Given the description of an element on the screen output the (x, y) to click on. 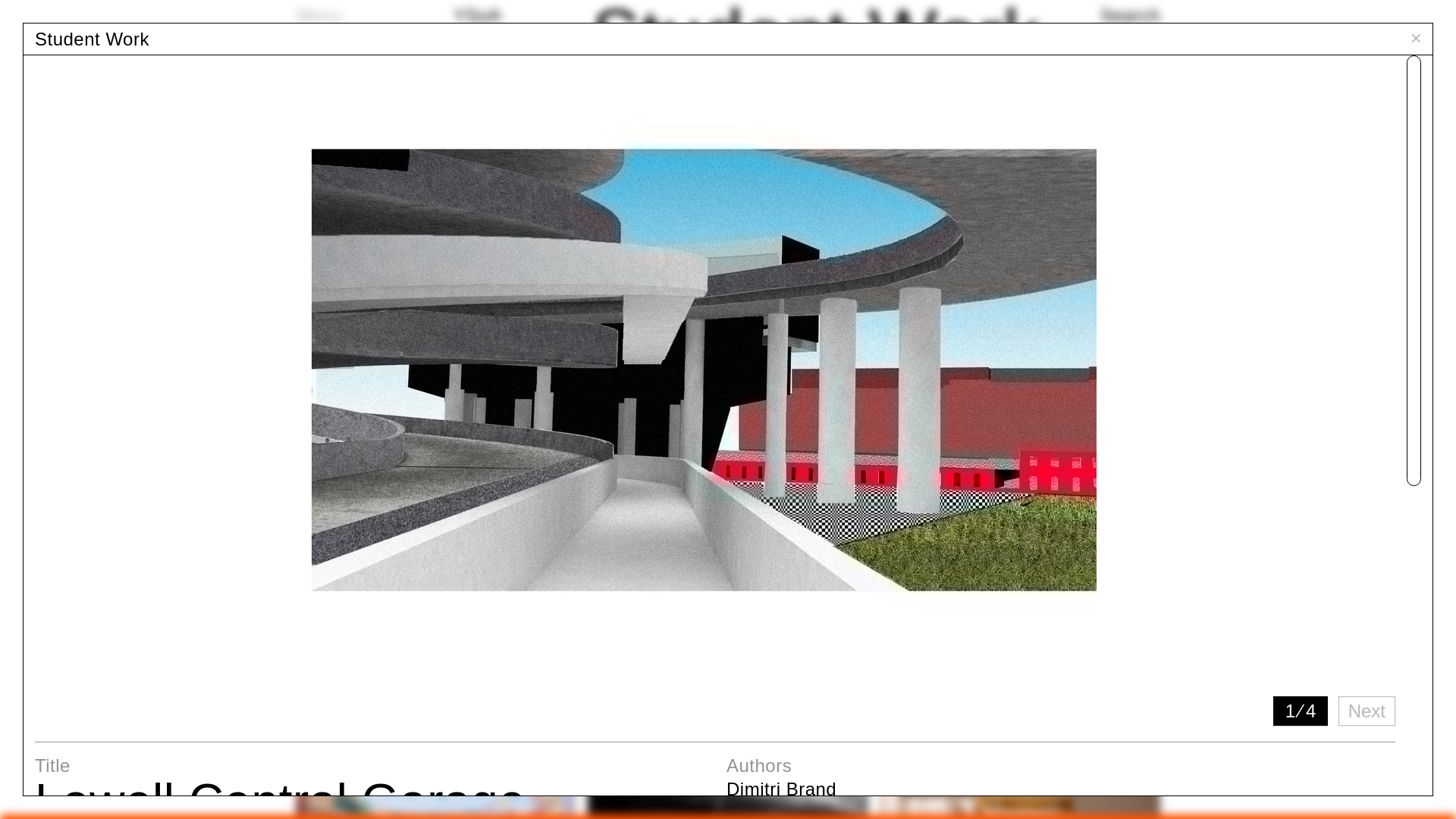
Menu (319, 15)
All images (432, 129)
YSoA (477, 15)
Search (1130, 15)
